Given the description of an element on the screen output the (x, y) to click on. 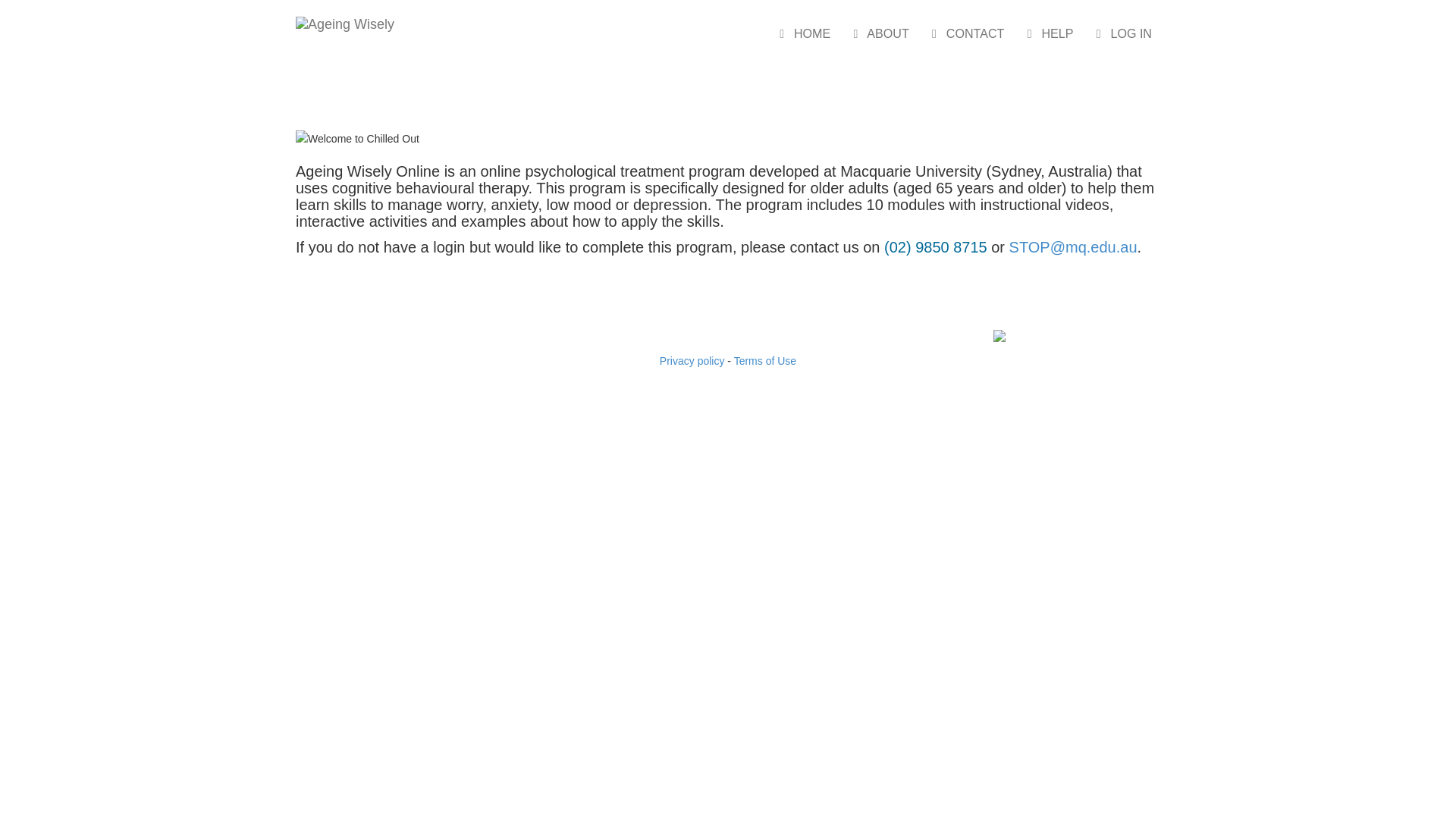
Privacy policy Element type: text (691, 360)
Terms of Use Element type: text (765, 360)
STOP@mq.edu.au Element type: text (1073, 246)
LOG IN Element type: text (1120, 33)
HOME Element type: text (801, 33)
HELP Element type: text (1046, 33)
CONTACT Element type: text (965, 33)
ABOUT Element type: text (877, 33)
